Given the description of an element on the screen output the (x, y) to click on. 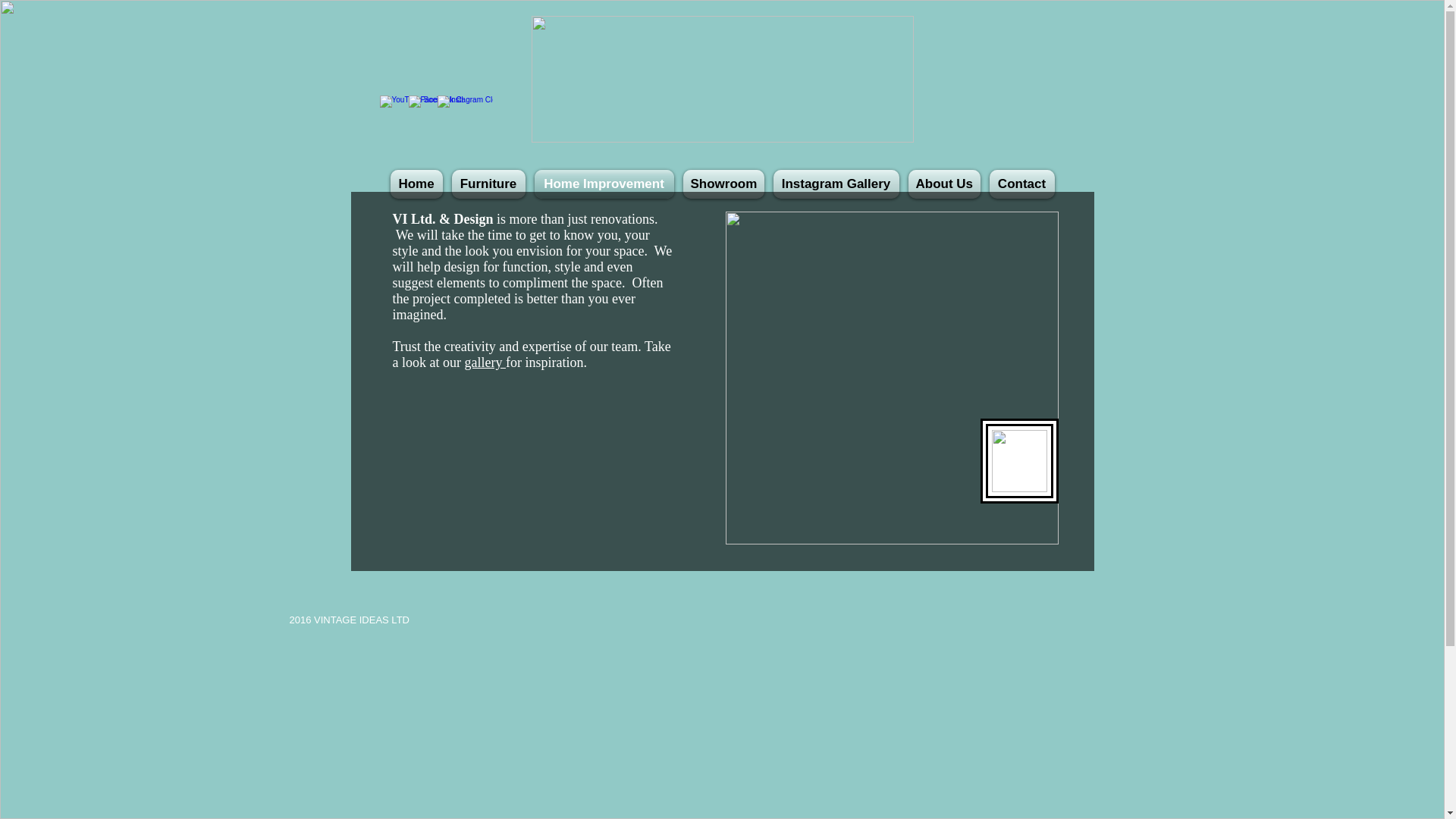
Showroom (723, 184)
Furniture (487, 184)
gallery (484, 362)
webLogo.png (721, 78)
living room.jpg (891, 377)
About Us (944, 184)
Instagram Gallery (836, 184)
Home Improvement (603, 184)
Contact (1021, 184)
Home (415, 184)
